Given the description of an element on the screen output the (x, y) to click on. 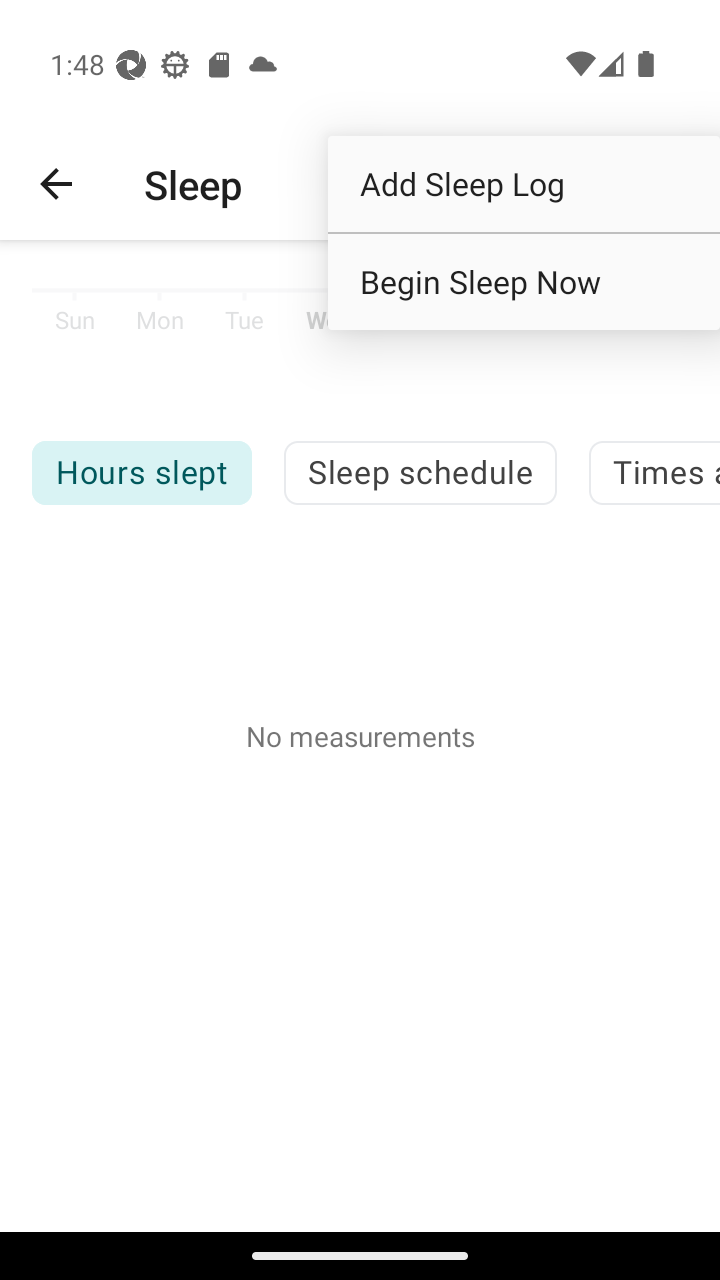
Add Sleep Log (524, 183)
Begin Sleep Now (524, 282)
